Given the description of an element on the screen output the (x, y) to click on. 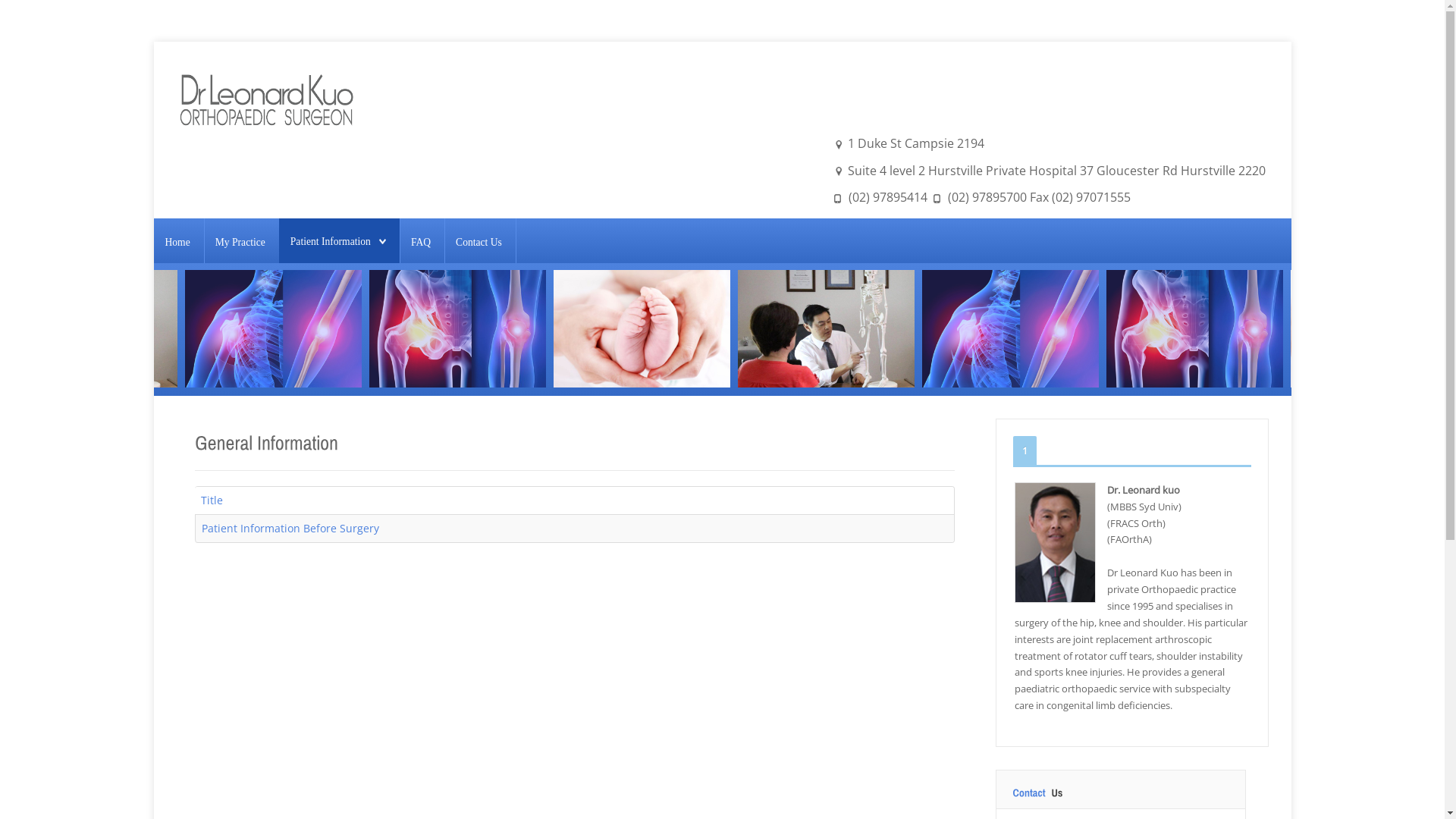
Patient Information Element type: text (337, 241)
FAQ Element type: text (420, 241)
Contact Us Element type: text (478, 241)
Patient Information Before Surgery Element type: text (290, 527)
My Practice Element type: text (240, 241)
Patient Information Element type: text (330, 241)
Title Element type: text (211, 499)
Home Element type: text (177, 241)
